Given the description of an element on the screen output the (x, y) to click on. 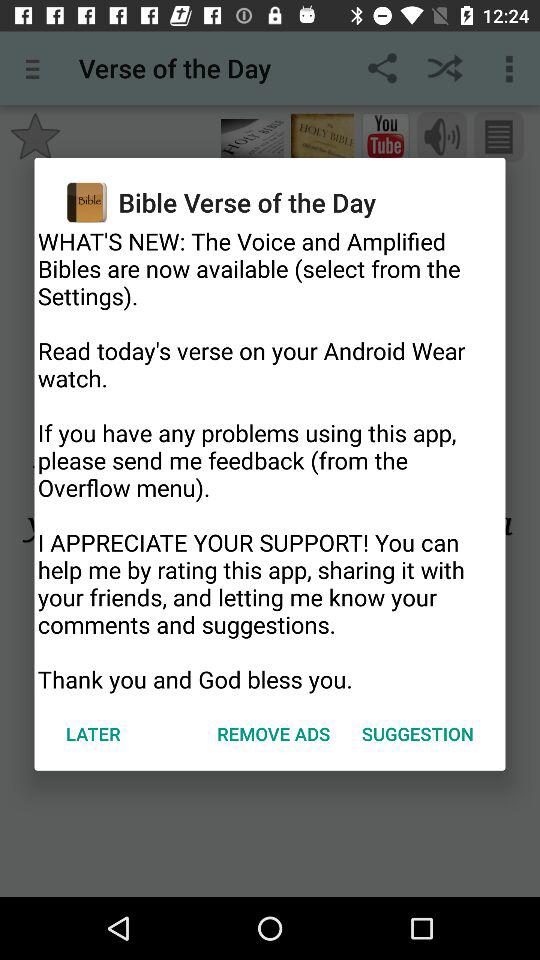
choose the icon next to remove ads icon (417, 733)
